Given the description of an element on the screen output the (x, y) to click on. 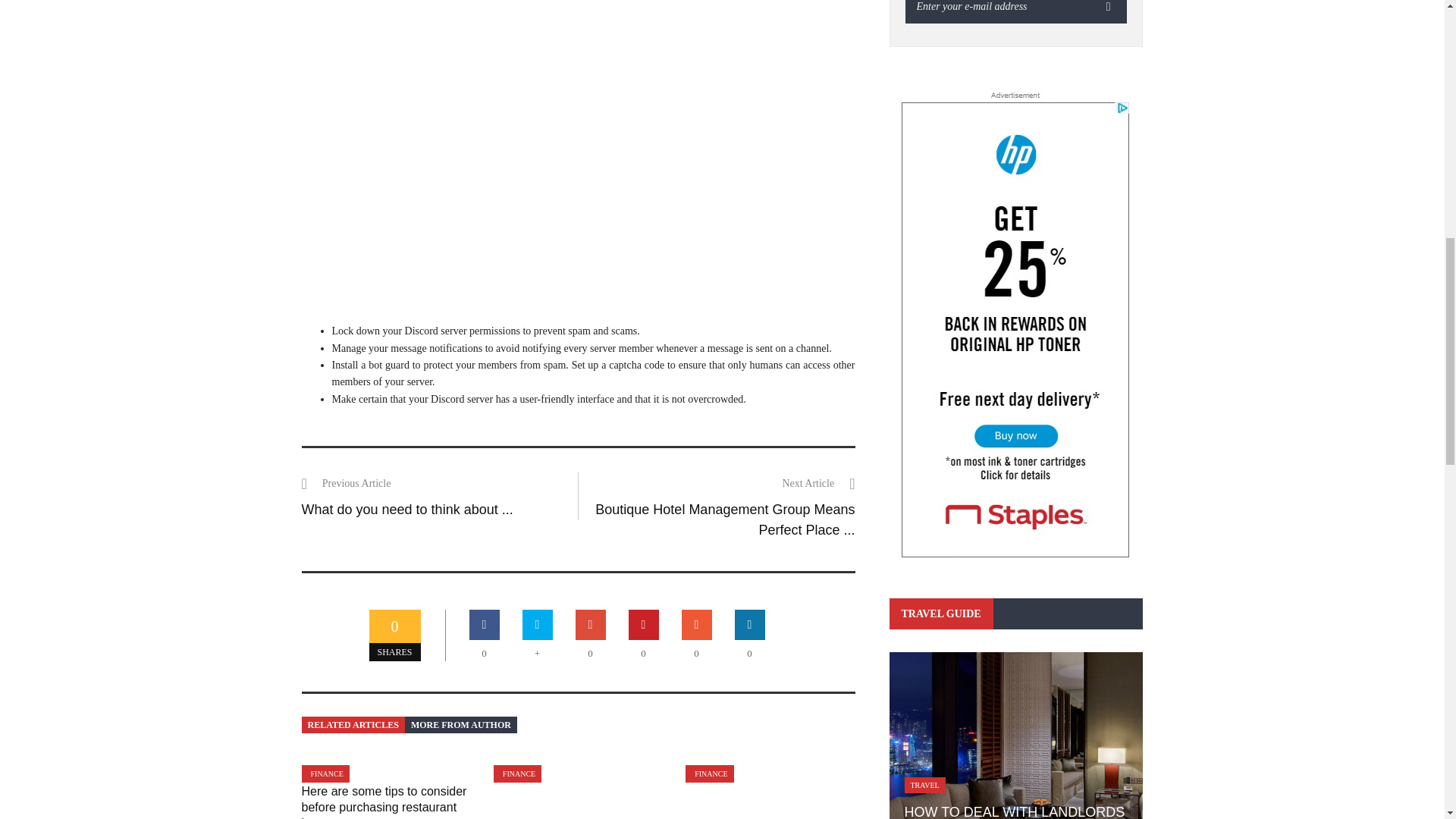
What do you need to think about ... (407, 509)
Boutique Hotel Management Group Means Perfect Place ... (724, 519)
Enter your e-mail address (997, 11)
